Given the description of an element on the screen output the (x, y) to click on. 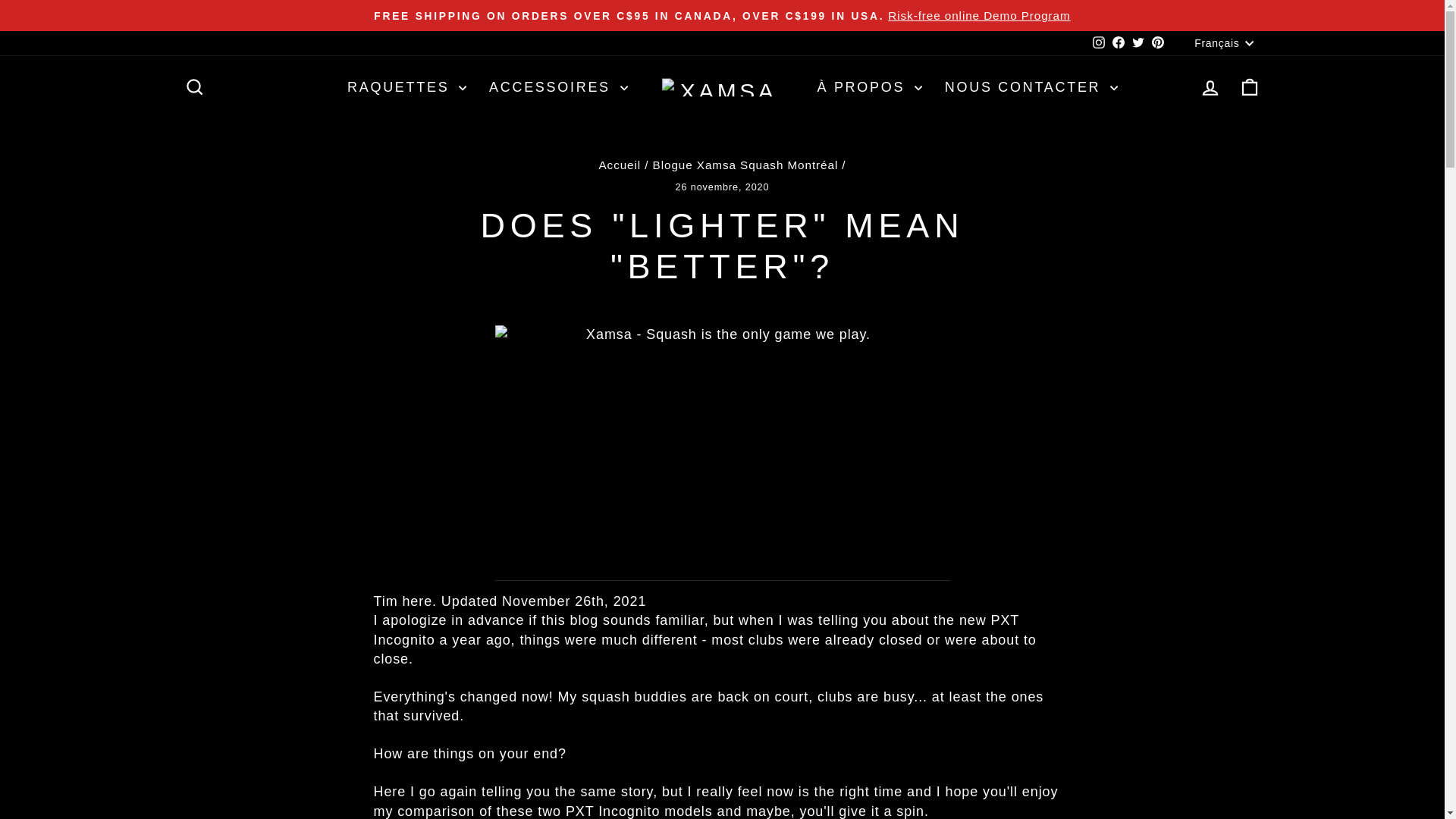
twitter (1138, 42)
ICON-SEARCH (194, 86)
ICON-BAG-MINIMAL (1249, 86)
instagram (1099, 42)
ACCOUNT (1210, 87)
